Given the description of an element on the screen output the (x, y) to click on. 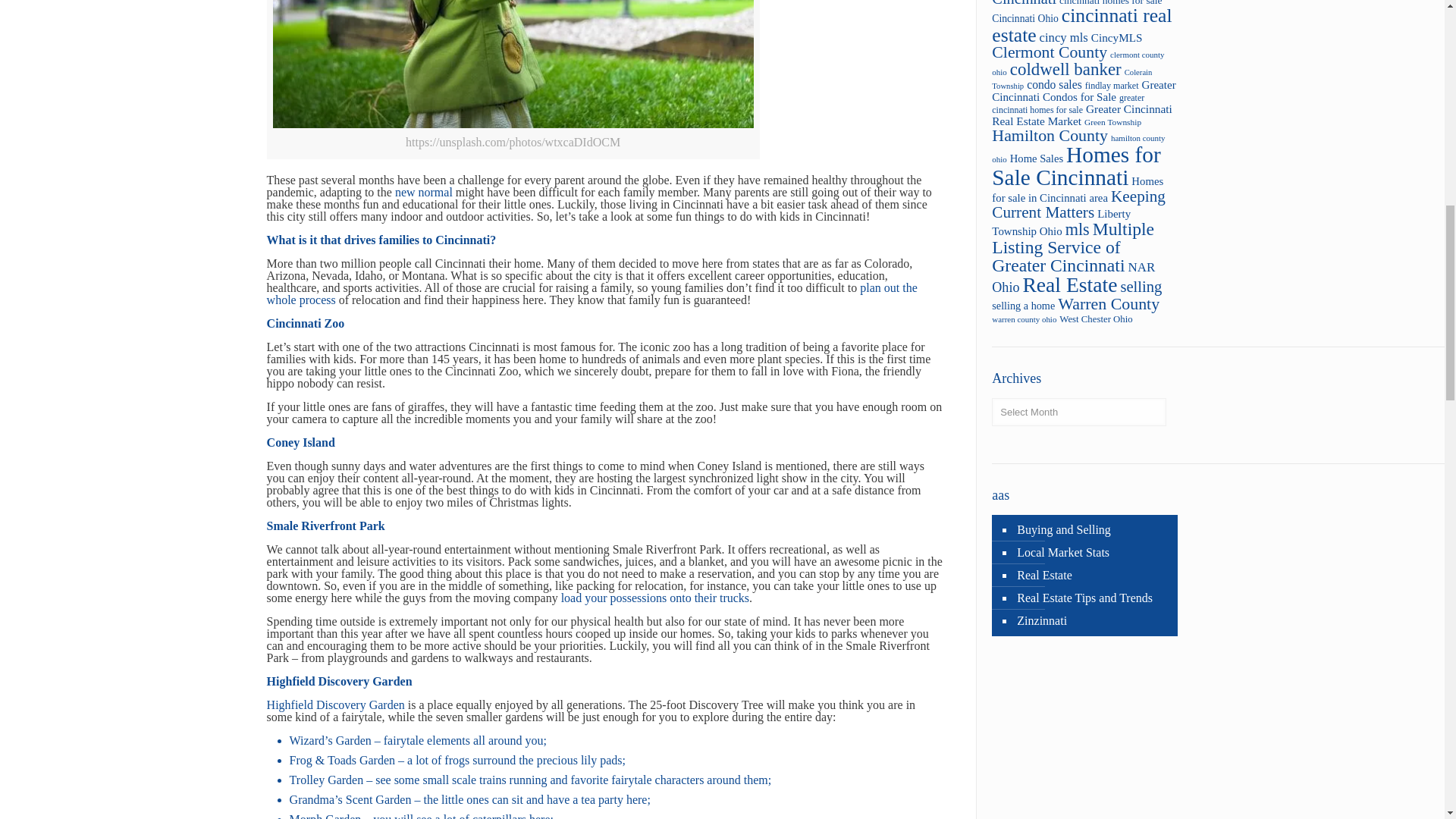
plan out the whole process (591, 293)
Highfield Discovery Garden (335, 704)
load your possessions onto their trucks (654, 597)
new normal (423, 192)
